Given the description of an element on the screen output the (x, y) to click on. 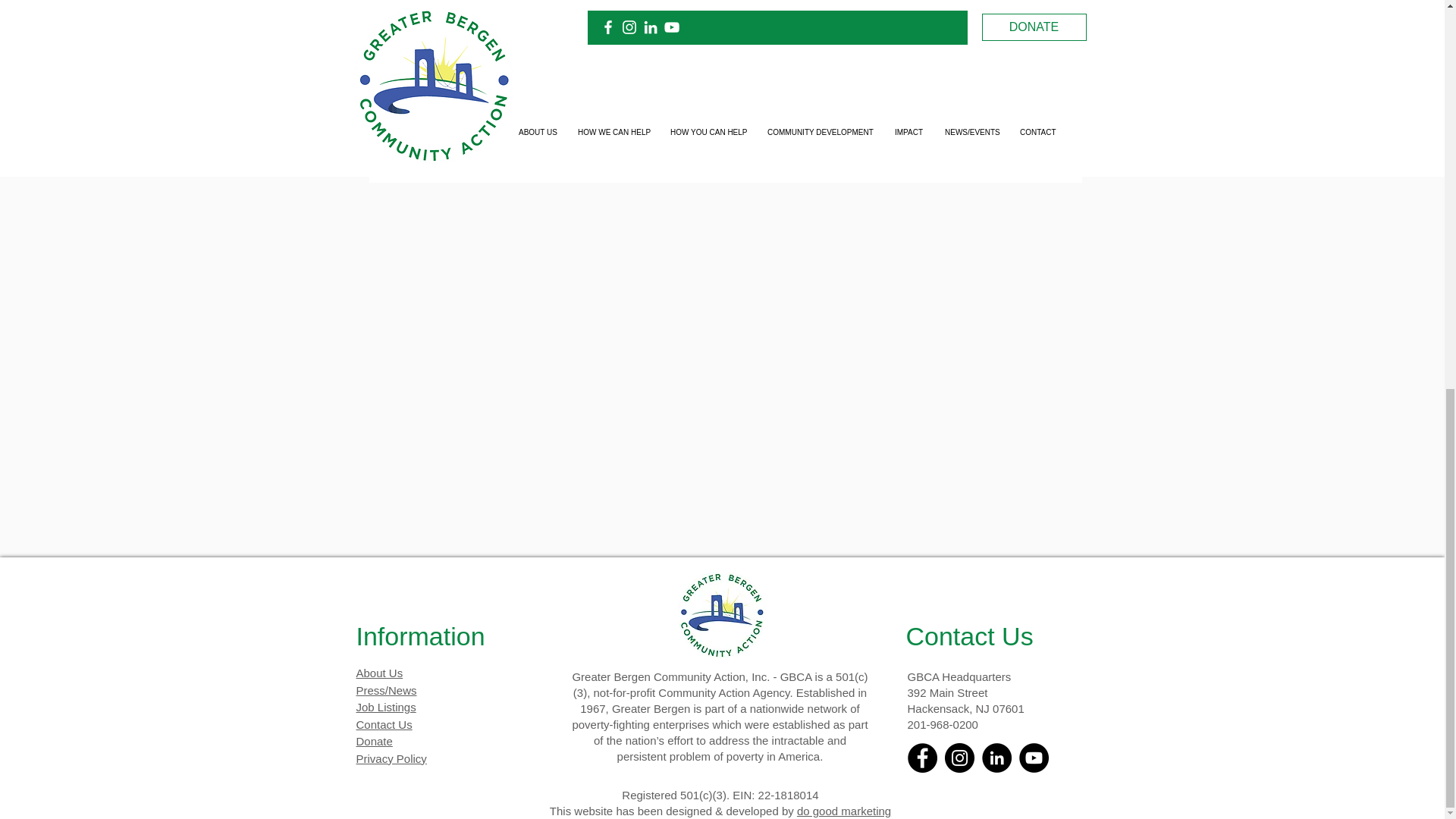
Job Listings (386, 707)
Donate (374, 740)
Privacy Policy (391, 758)
Contact Us (384, 723)
About Us (379, 672)
HERE (786, 2)
Post not marked as liked (998, 114)
